Given the description of an element on the screen output the (x, y) to click on. 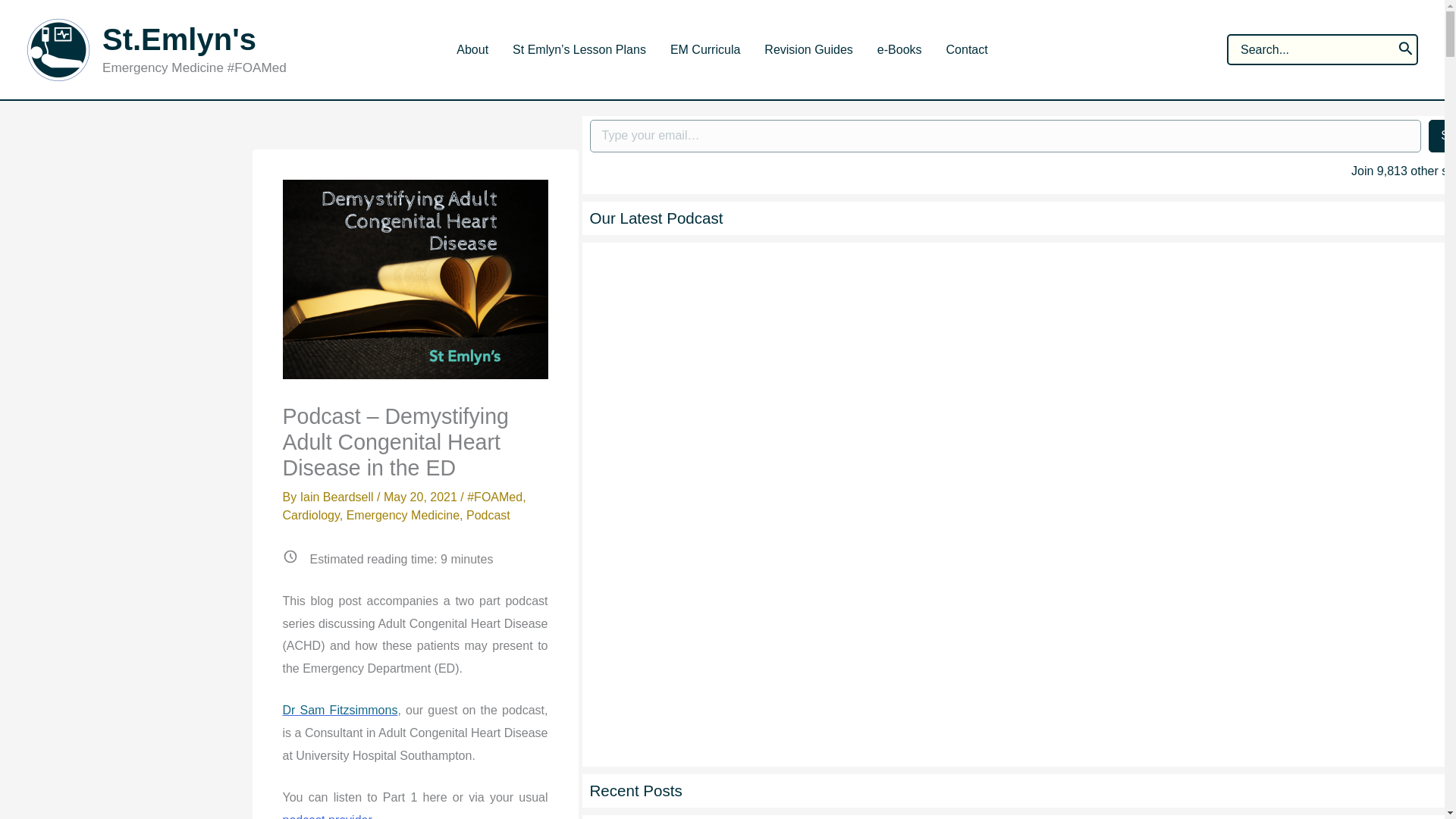
EM Curricula (705, 50)
Revision Guides (808, 50)
About (472, 50)
View all posts by Iain Beardsell (338, 496)
St.Emlyn's (178, 39)
